Given the description of an element on the screen output the (x, y) to click on. 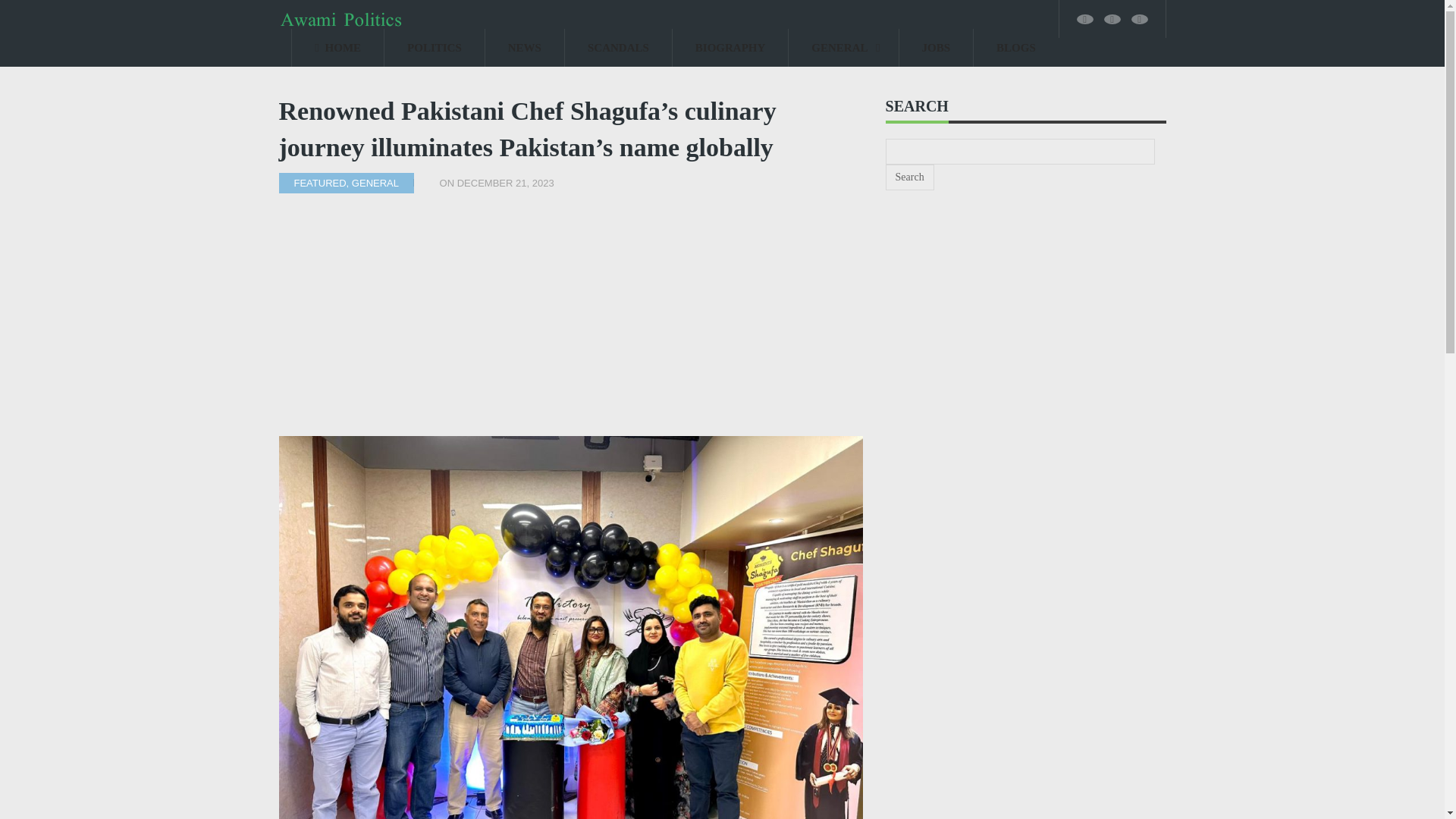
Search (909, 177)
BLOGS (1016, 47)
POLITICS (434, 47)
FEATURED (320, 183)
Advertisement (571, 322)
GENERAL (843, 47)
HOME (338, 47)
BIOGRAPHY (730, 47)
SCANDALS (617, 47)
JOBS (936, 47)
